Given the description of an element on the screen output the (x, y) to click on. 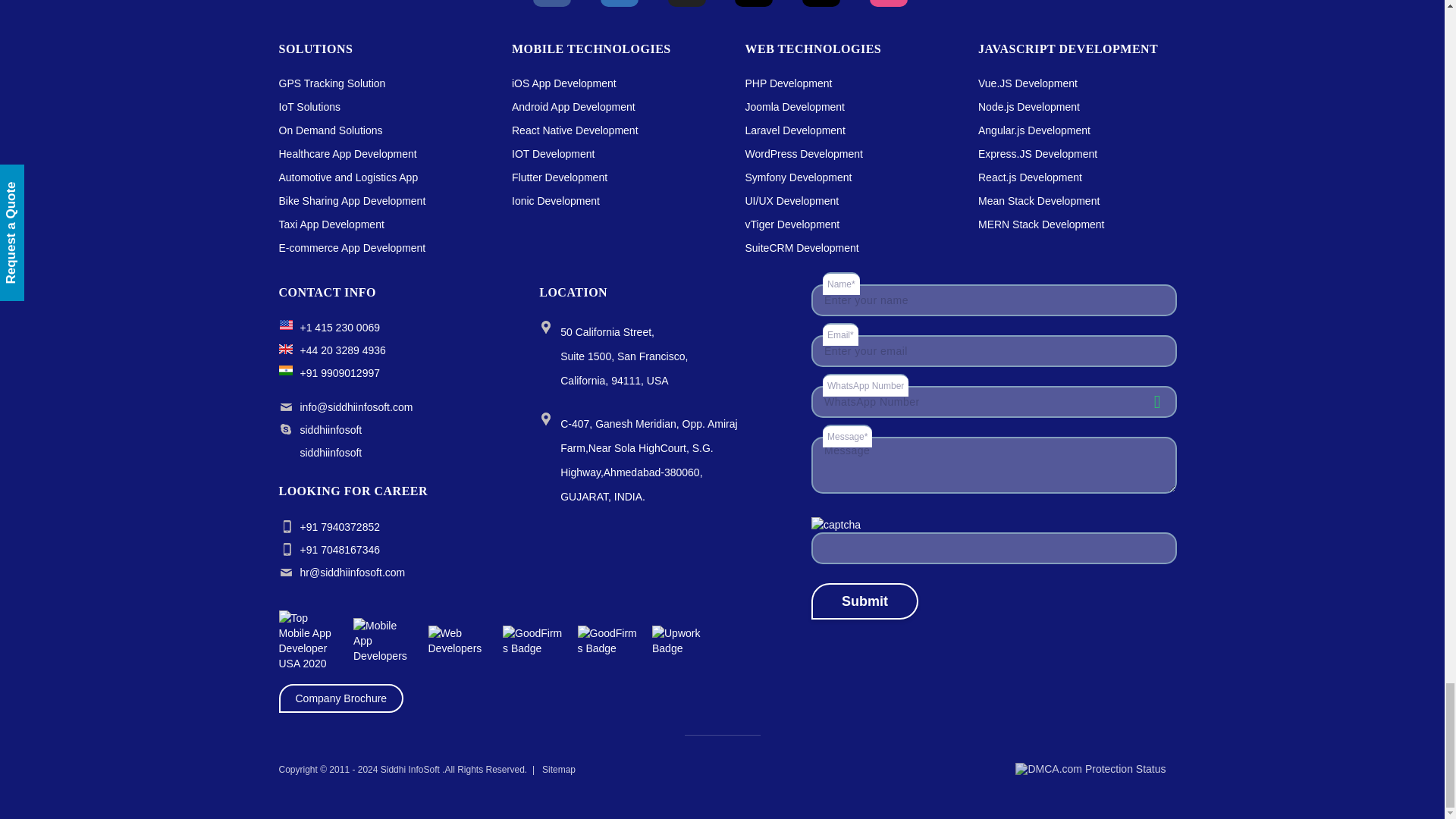
Facebook (551, 3)
Submit (864, 601)
